Given the description of an element on the screen output the (x, y) to click on. 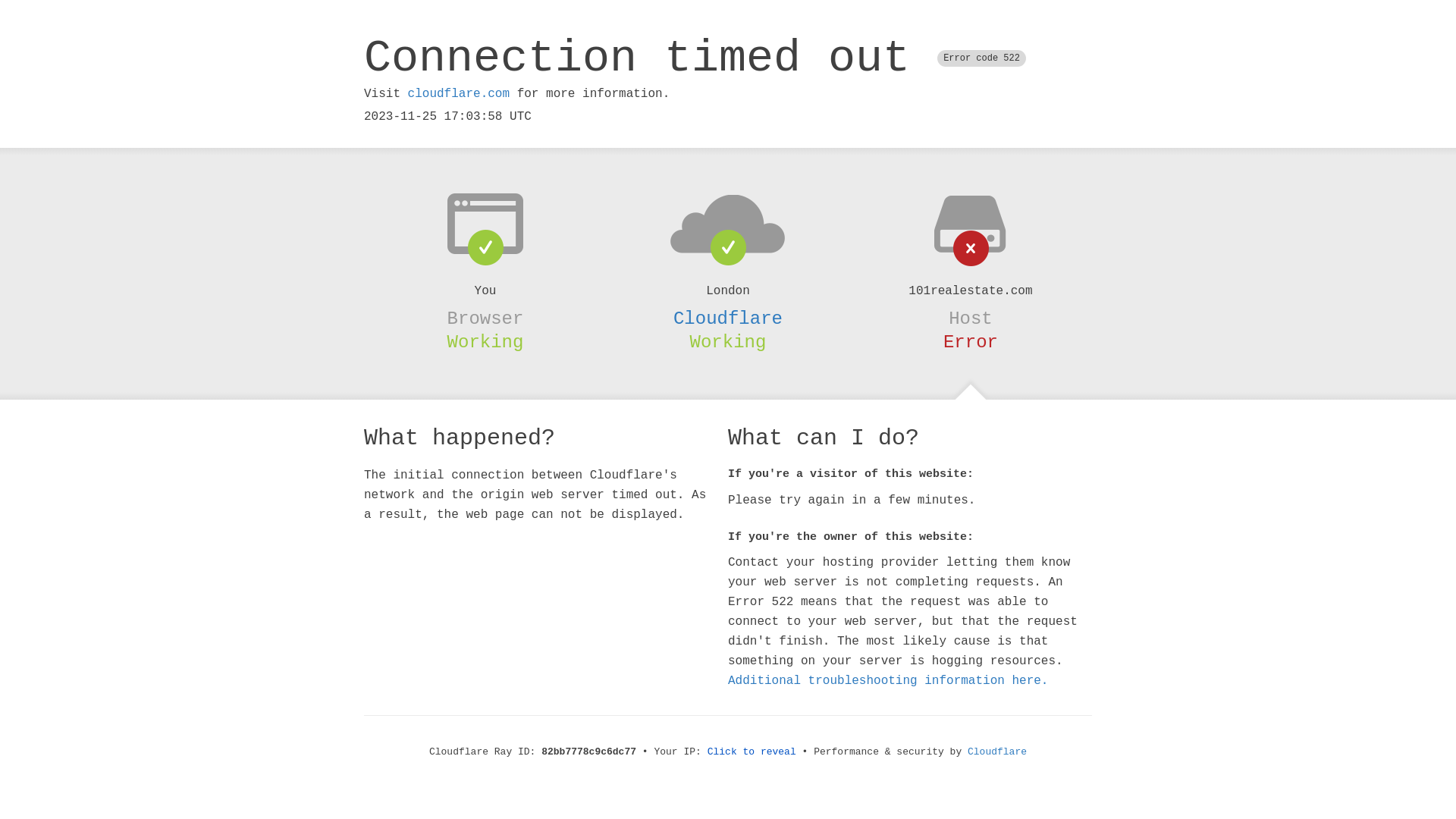
Additional troubleshooting information here. Element type: text (888, 680)
Click to reveal Element type: text (751, 751)
Cloudflare Element type: text (996, 751)
cloudflare.com Element type: text (458, 93)
Cloudflare Element type: text (727, 318)
